Given the description of an element on the screen output the (x, y) to click on. 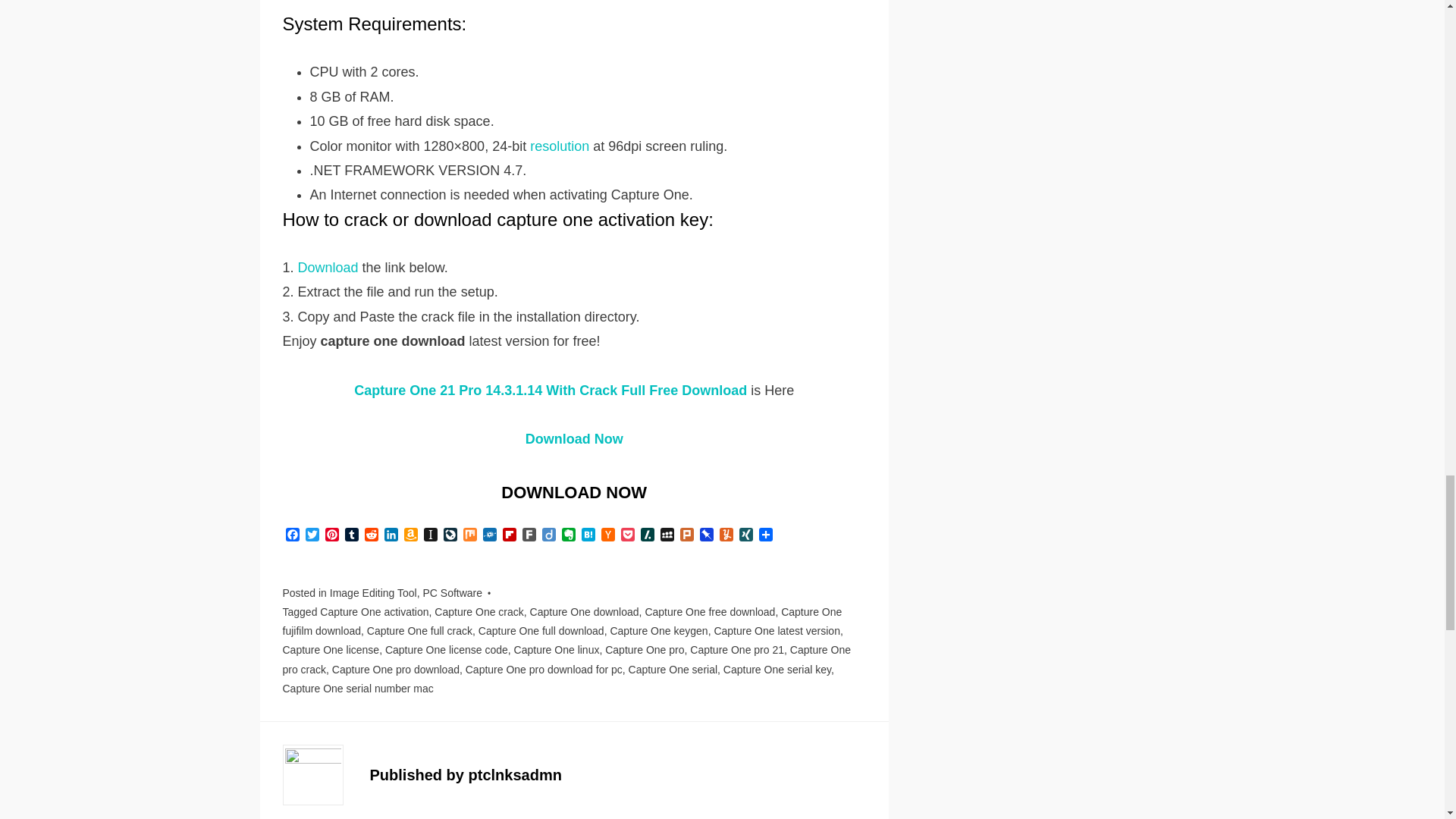
Facebook (291, 535)
Download Now (574, 438)
Amazon Wish List (410, 535)
Capture One 21 Pro 14.3.1.14 With Crack Full Free Download (552, 390)
LiveJournal (449, 535)
LinkedIn (390, 535)
Folkd (489, 535)
Twitter (311, 535)
Mix (469, 535)
Facebook (291, 535)
Instapaper (429, 535)
Pinterest (330, 535)
Tumblr (350, 535)
Download Now (573, 492)
Download (328, 267)
